Given the description of an element on the screen output the (x, y) to click on. 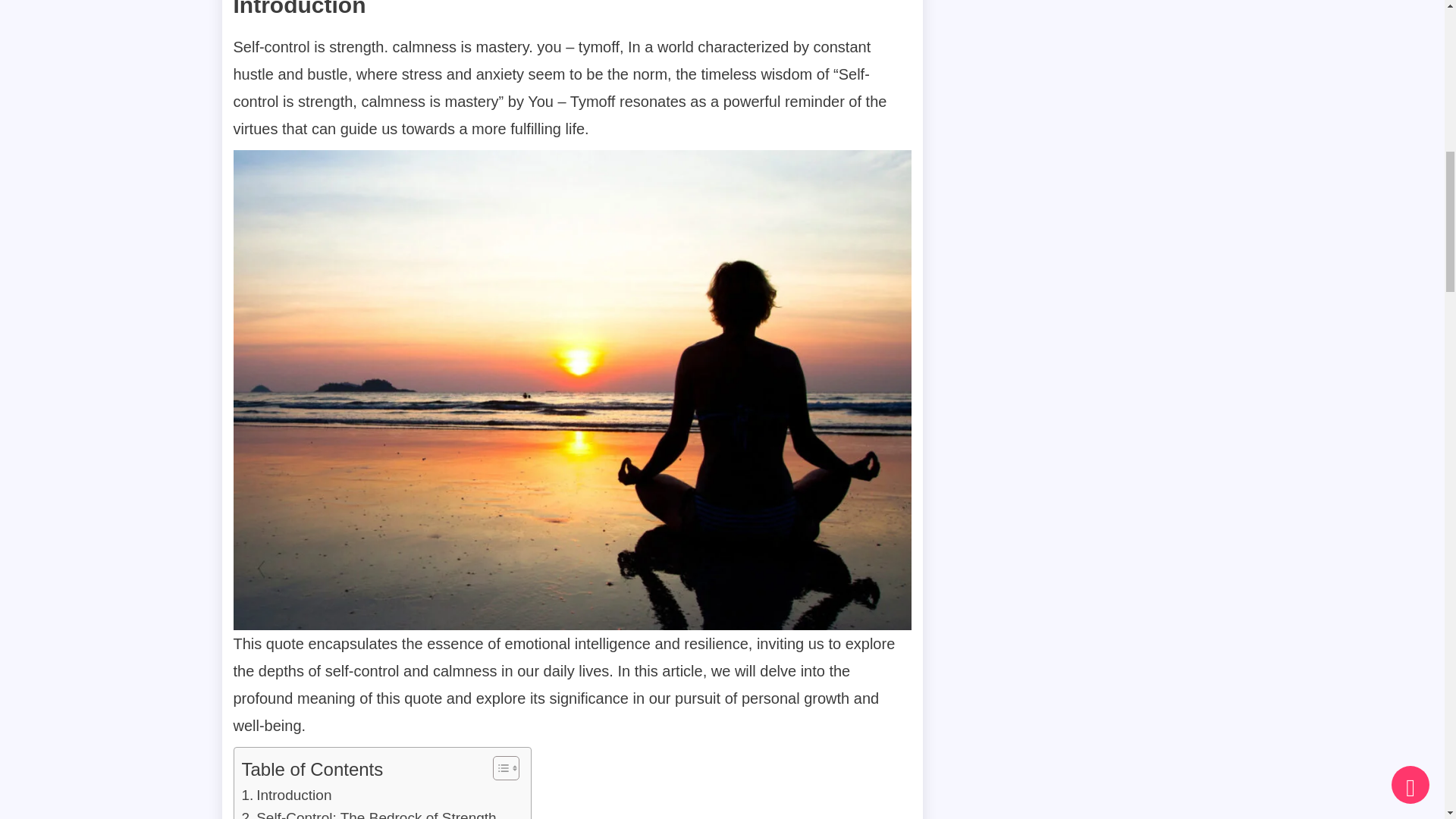
Self-Control: The Bedrock of Strength (368, 812)
Introduction (286, 794)
Self-Control: The Bedrock of Strength (368, 812)
Introduction (286, 794)
